Given the description of an element on the screen output the (x, y) to click on. 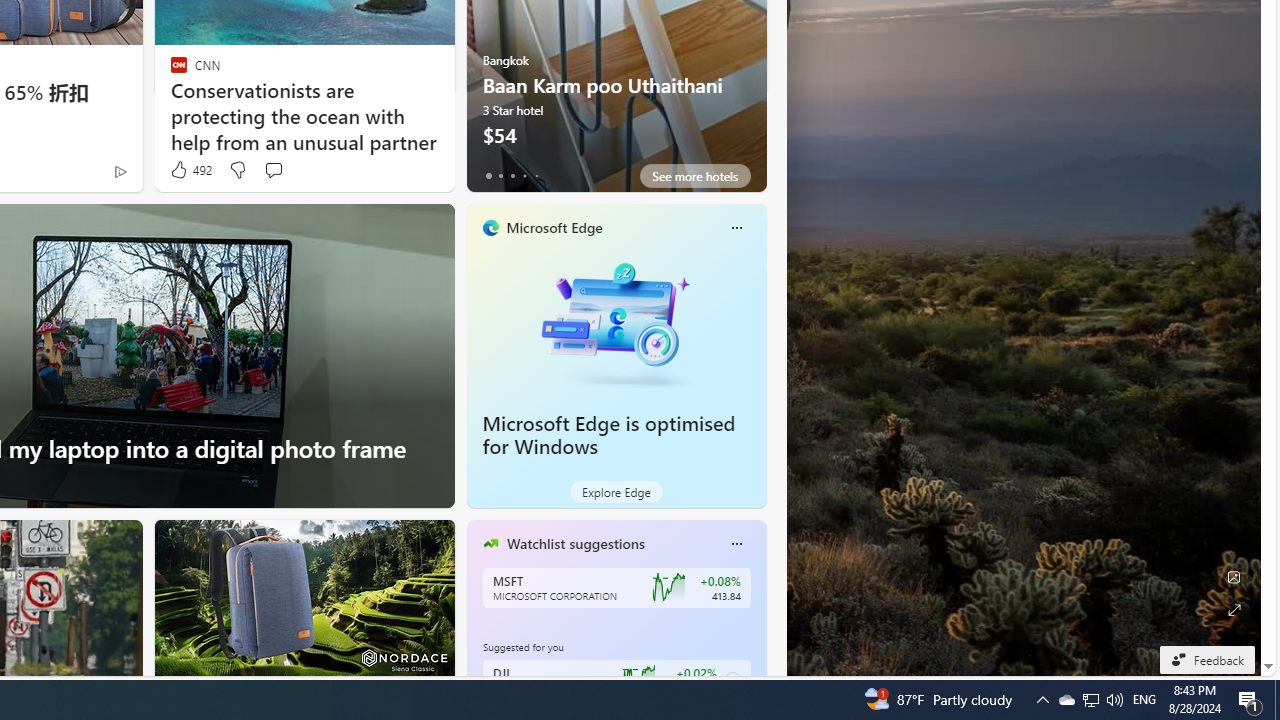
Microsoft Edge (553, 227)
Class: icon-img (736, 543)
Start the conversation (273, 169)
tab-1 (500, 175)
492 Like (190, 170)
Watchlist suggestions (575, 543)
tab-2 (511, 175)
Explore Edge (616, 491)
Start the conversation (272, 170)
